Given the description of an element on the screen output the (x, y) to click on. 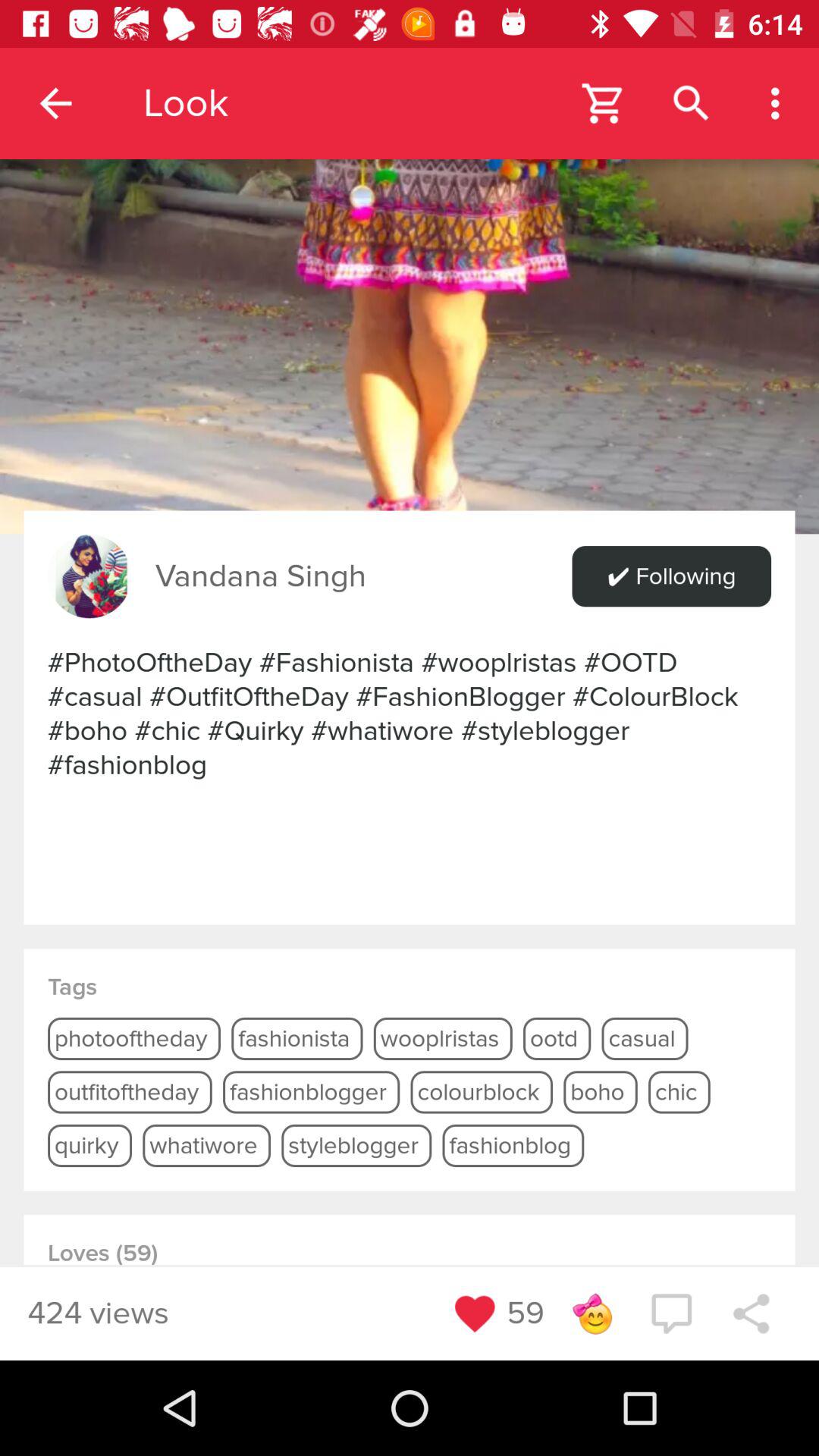
share the post (751, 1313)
